Given the description of an element on the screen output the (x, y) to click on. 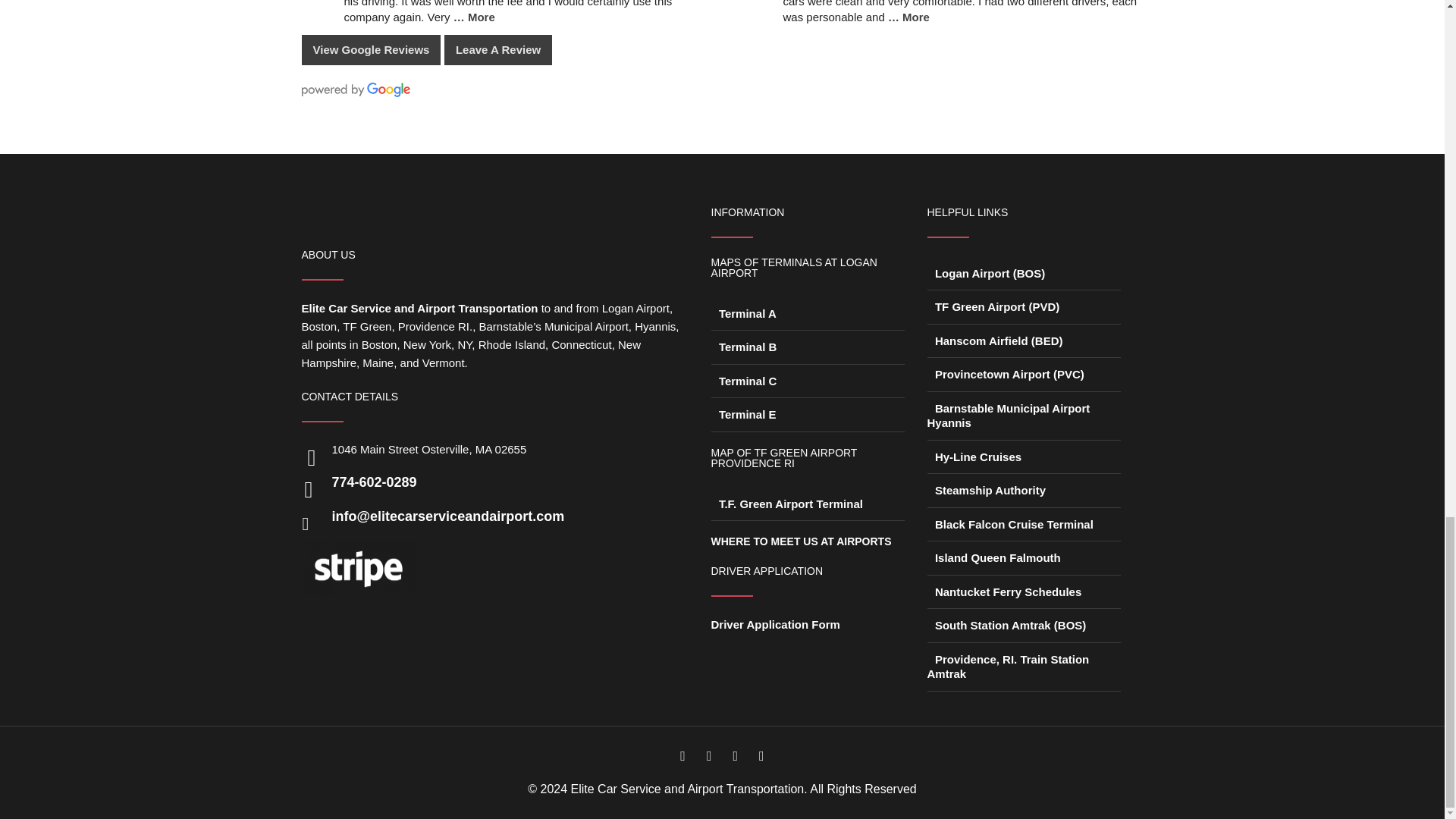
Powered by Google (355, 89)
